Given the description of an element on the screen output the (x, y) to click on. 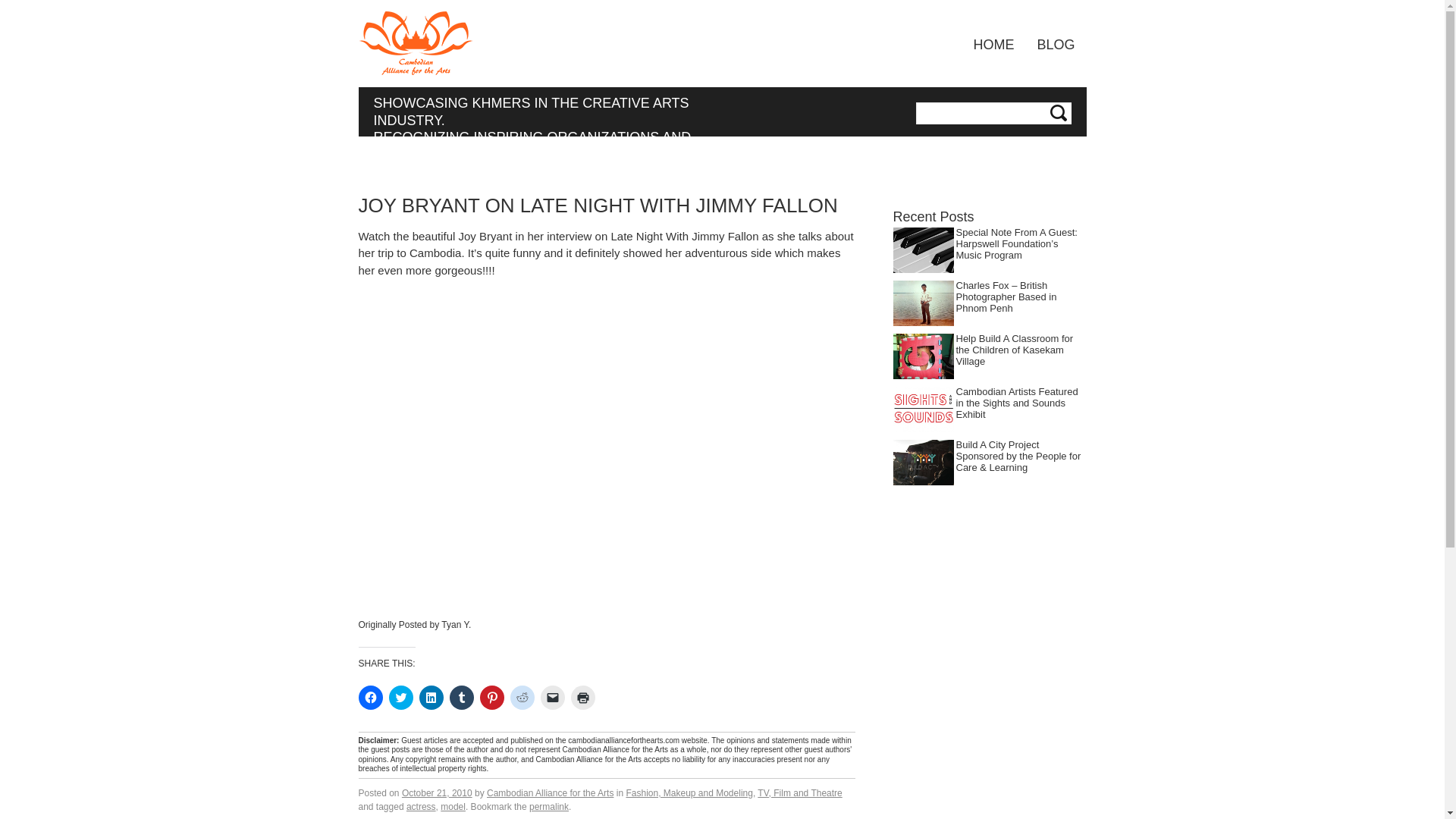
Click to share on Tumblr (460, 697)
actress (420, 806)
Permalink to Joy Bryant on Late Night With Jimmy Fallon (549, 806)
Click to share on Pinterest (491, 697)
Fashion, Makeup and Modeling (689, 792)
Help Build A Classroom for the Children of Kasekam Village (1014, 349)
Click to share on Reddit (521, 697)
model (453, 806)
Click to share on Facebook (369, 697)
October 21, 2010 (436, 792)
permalink (549, 806)
BLOG (1055, 44)
Click to share on LinkedIn (430, 697)
Click to print (582, 697)
HOME (992, 44)
